Given the description of an element on the screen output the (x, y) to click on. 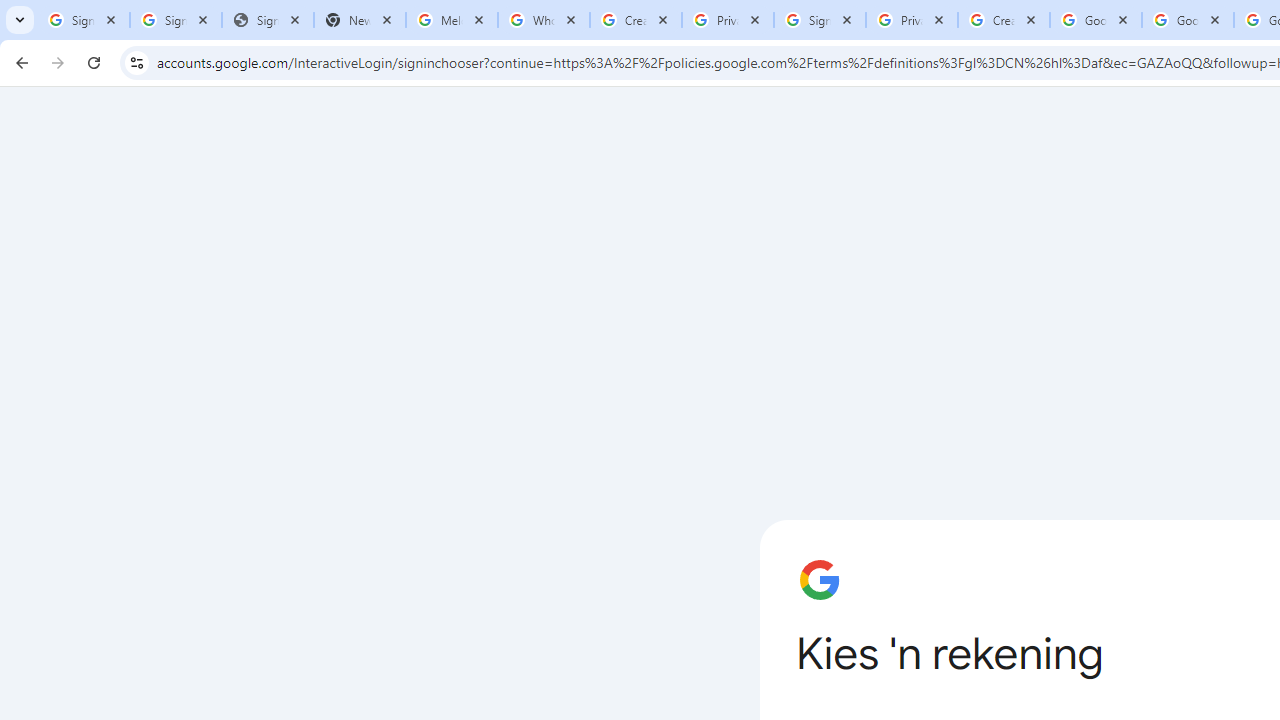
Create your Google Account (1003, 20)
New Tab (359, 20)
Sign In - USA TODAY (267, 20)
Create your Google Account (636, 20)
